Given the description of an element on the screen output the (x, y) to click on. 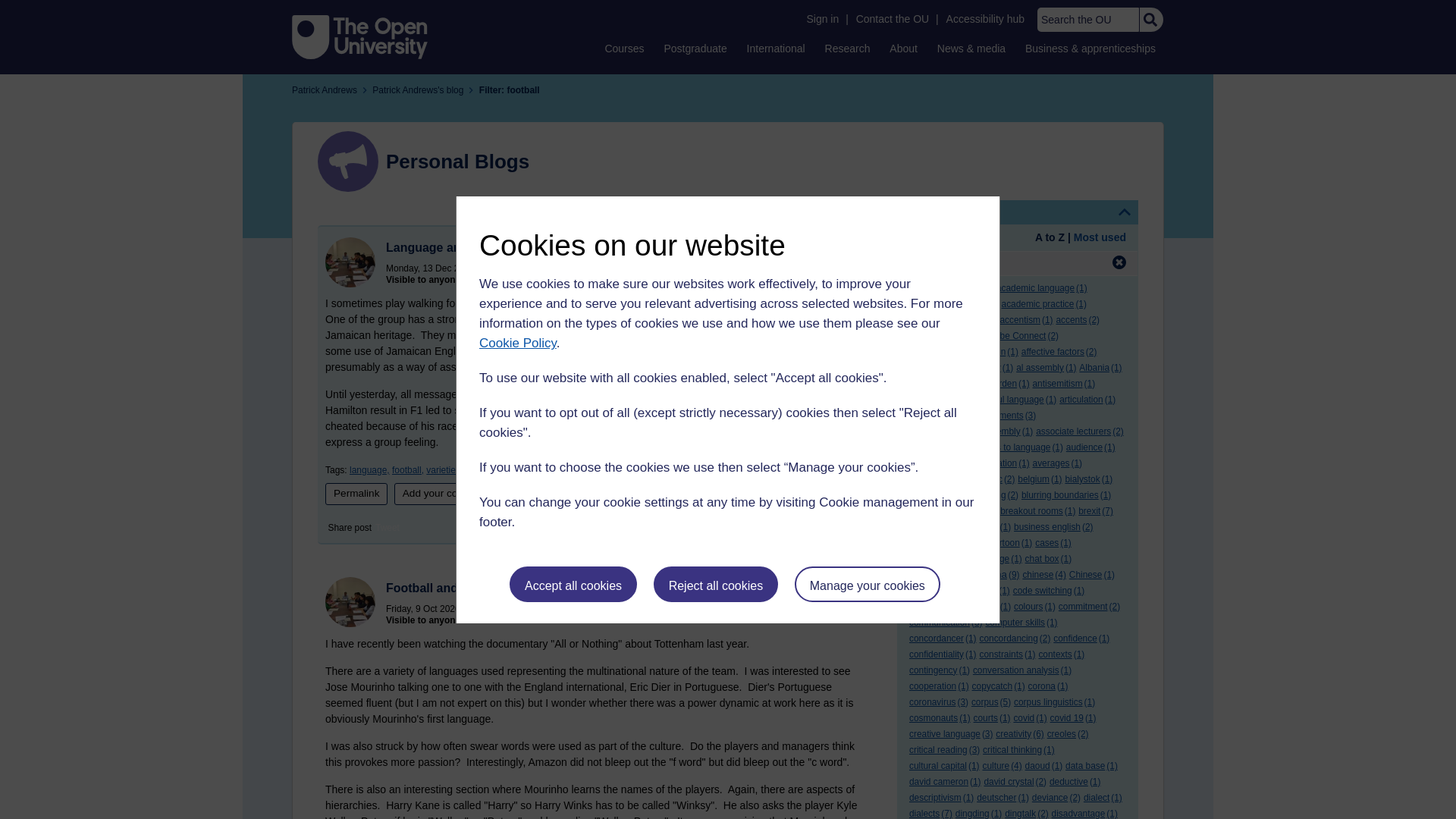
Click to remove filter tag (1118, 262)
Postgraduate (695, 48)
About (903, 48)
Help with Order: (951, 238)
Sign in (822, 19)
The Open University (360, 36)
Manage your cookies (867, 583)
Accept all cookies (573, 583)
International (775, 48)
Search (1149, 19)
Accessibility hub (985, 19)
Tags (1017, 211)
Search (1149, 19)
Contact the OU (892, 19)
